Given the description of an element on the screen output the (x, y) to click on. 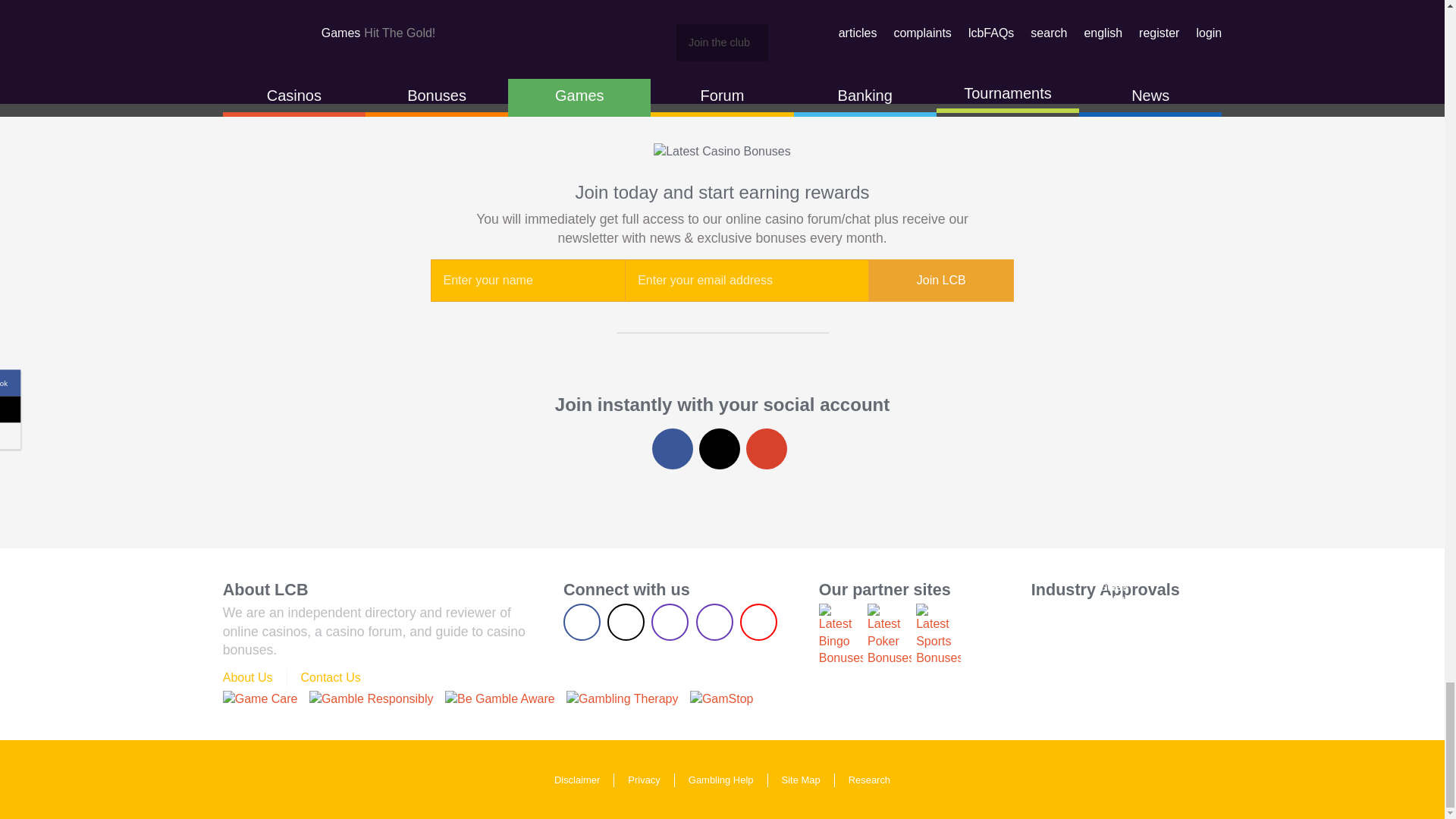
Game Care (260, 699)
Be Gamble Aware (499, 699)
Gambling Therapy (622, 699)
Terms and conditions (370, 699)
